Given the description of an element on the screen output the (x, y) to click on. 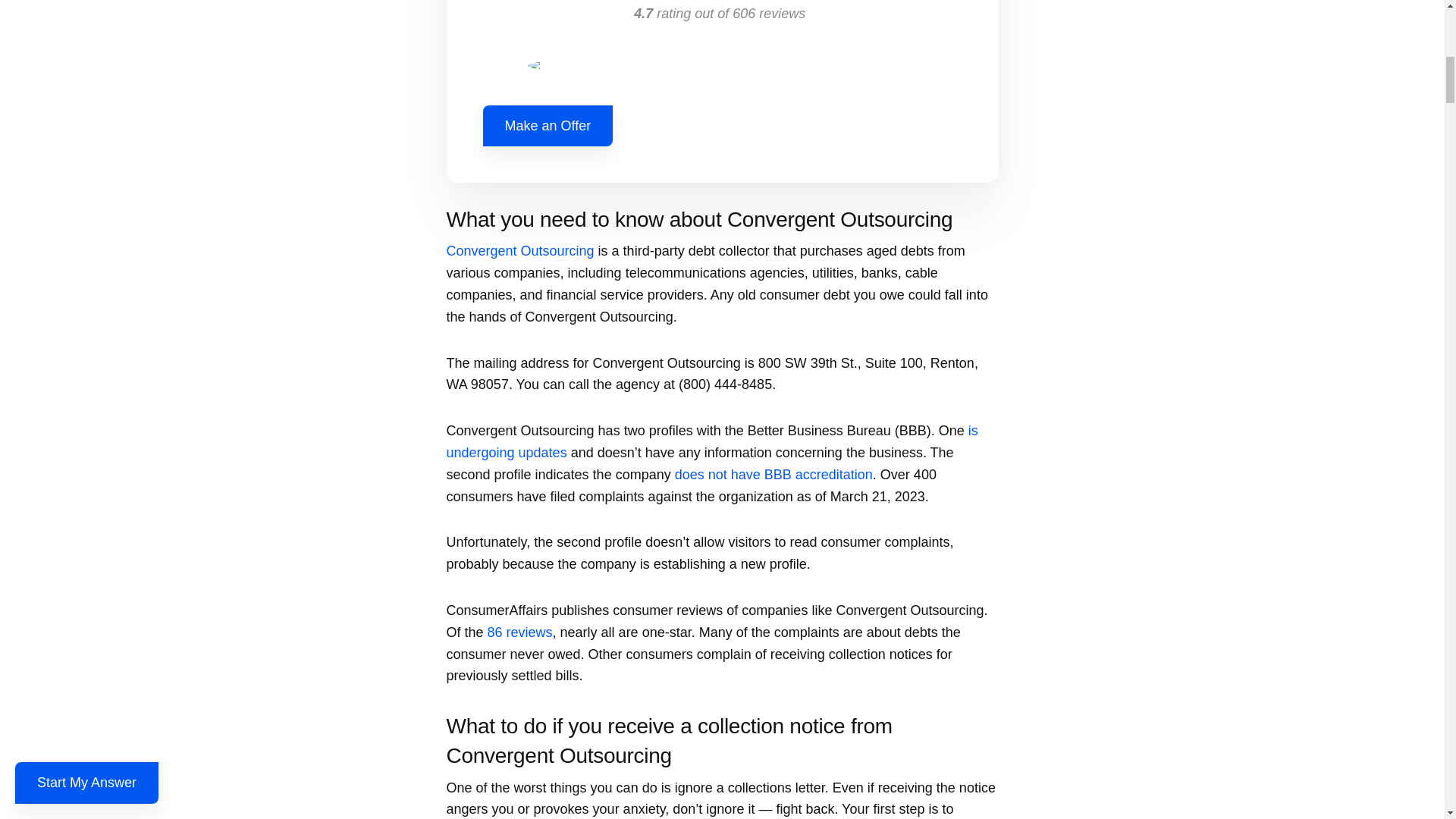
Make an Offer (546, 126)
Convergent Outsourcing (519, 250)
is undergoing updates (710, 441)
does not have BBB accreditation (773, 474)
86 reviews (520, 631)
EmbedReviews widget (720, 40)
